Given the description of an element on the screen output the (x, y) to click on. 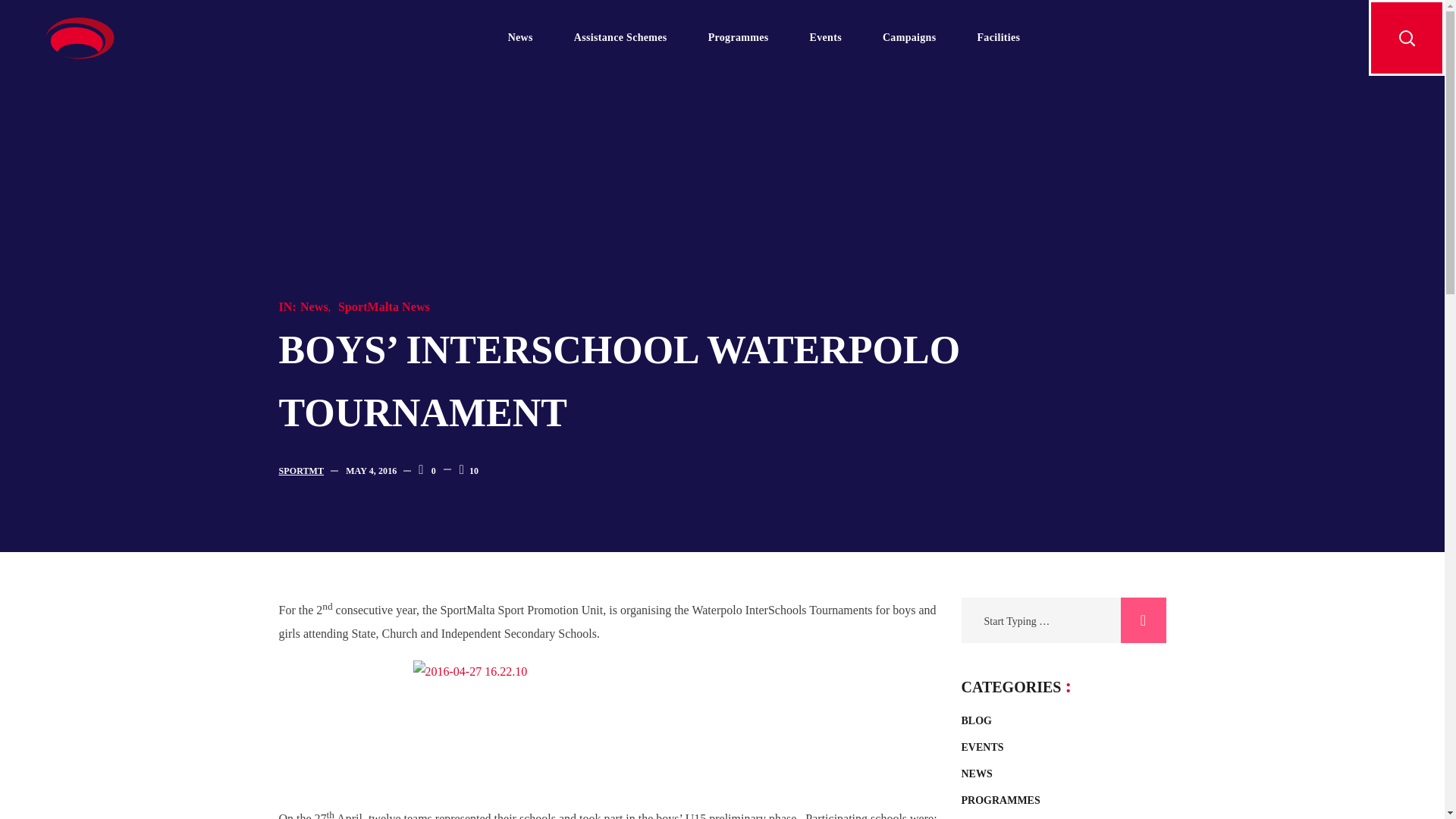
Search (1065, 441)
News (314, 306)
Like (468, 470)
Search (1143, 619)
Facilities (998, 38)
SportMalta News (383, 306)
Search (1143, 619)
Campaigns (908, 38)
Programmes (738, 38)
Assistance Schemes (620, 38)
